Given the description of an element on the screen output the (x, y) to click on. 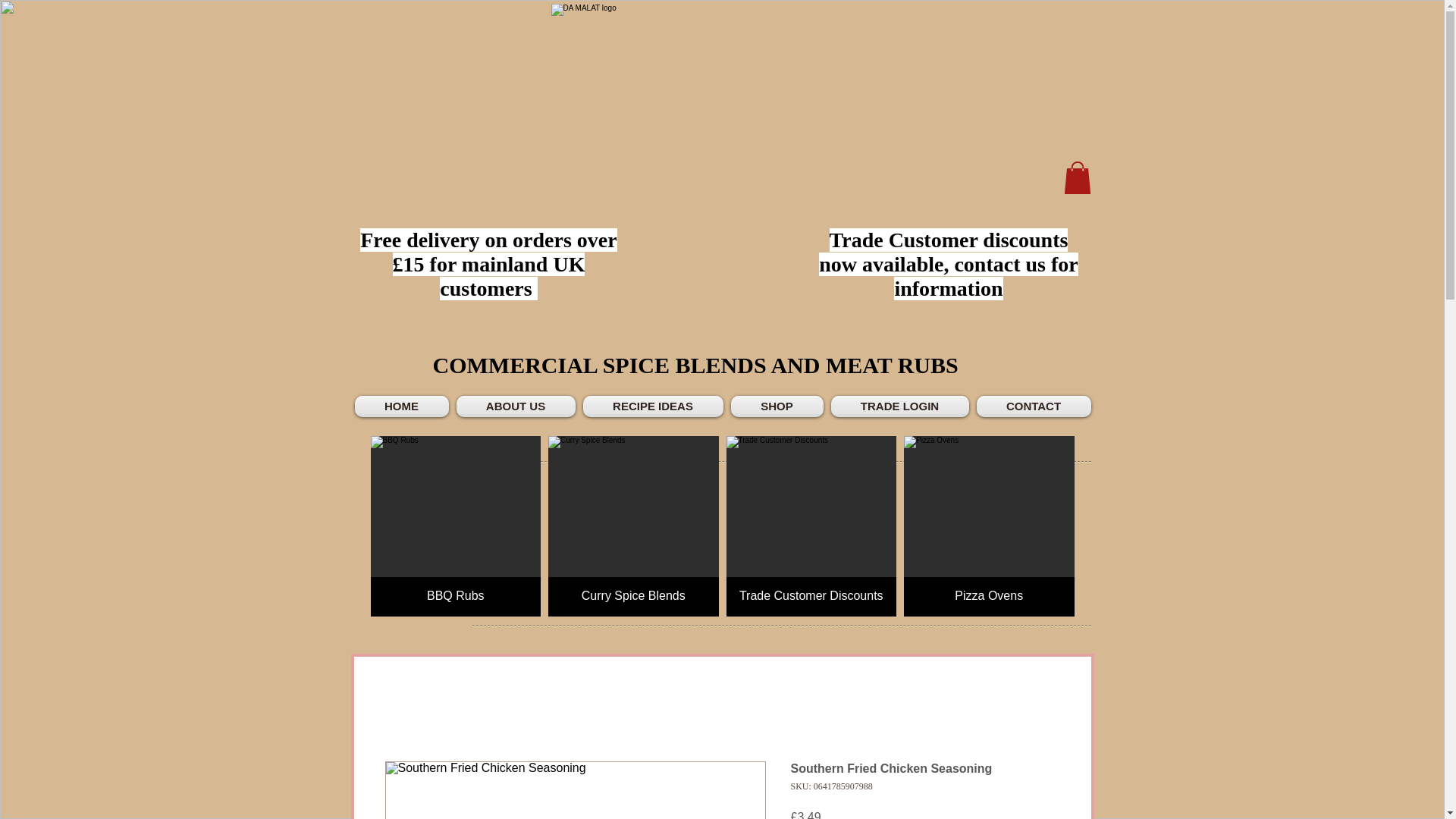
HOME (403, 405)
CONTACT (1031, 405)
RECIPE IDEAS (652, 405)
TRADE LOGIN (899, 405)
SHOP (776, 405)
ABOUT US (514, 405)
